Given the description of an element on the screen output the (x, y) to click on. 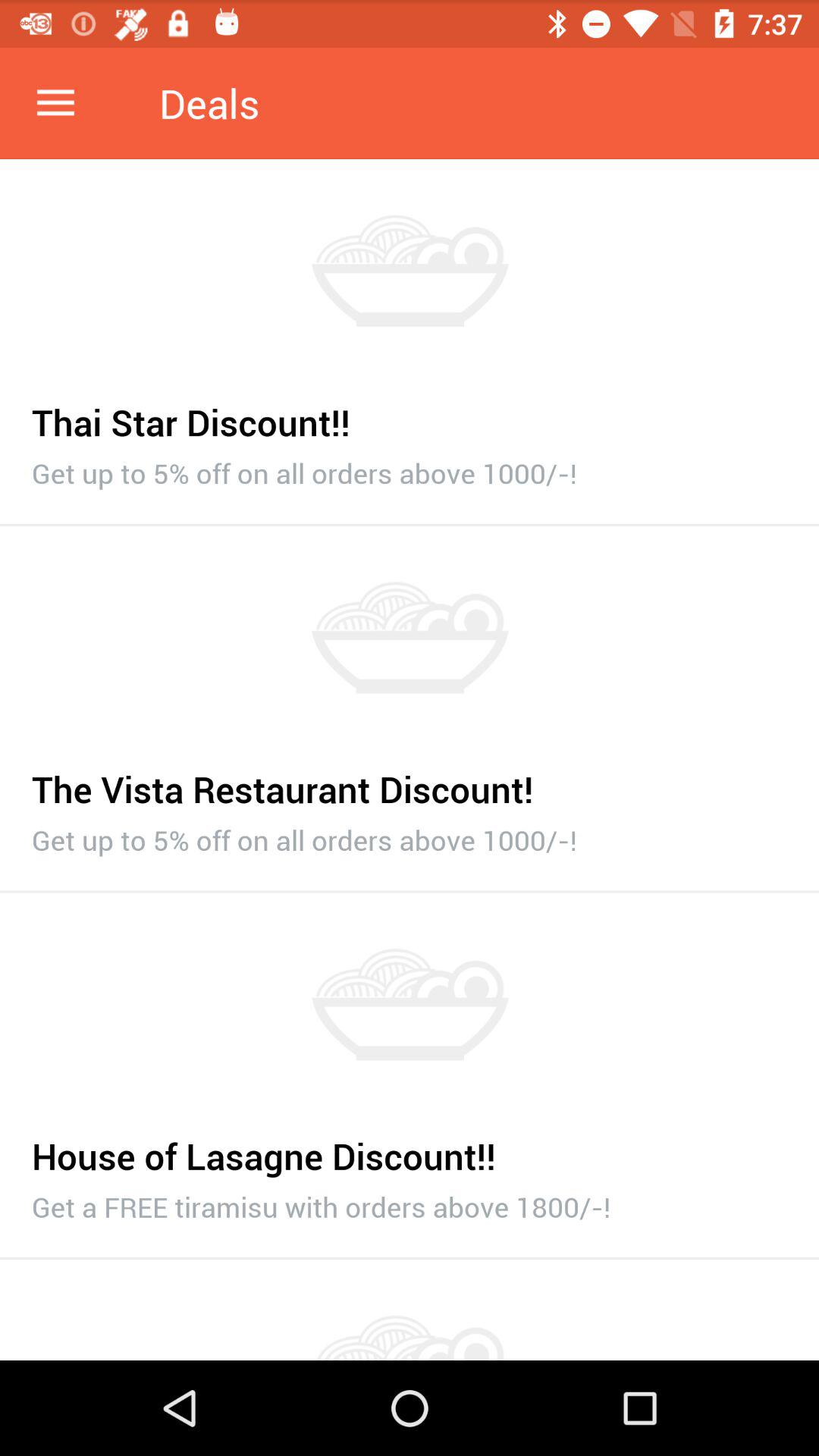
jump until the get a free (409, 1202)
